Given the description of an element on the screen output the (x, y) to click on. 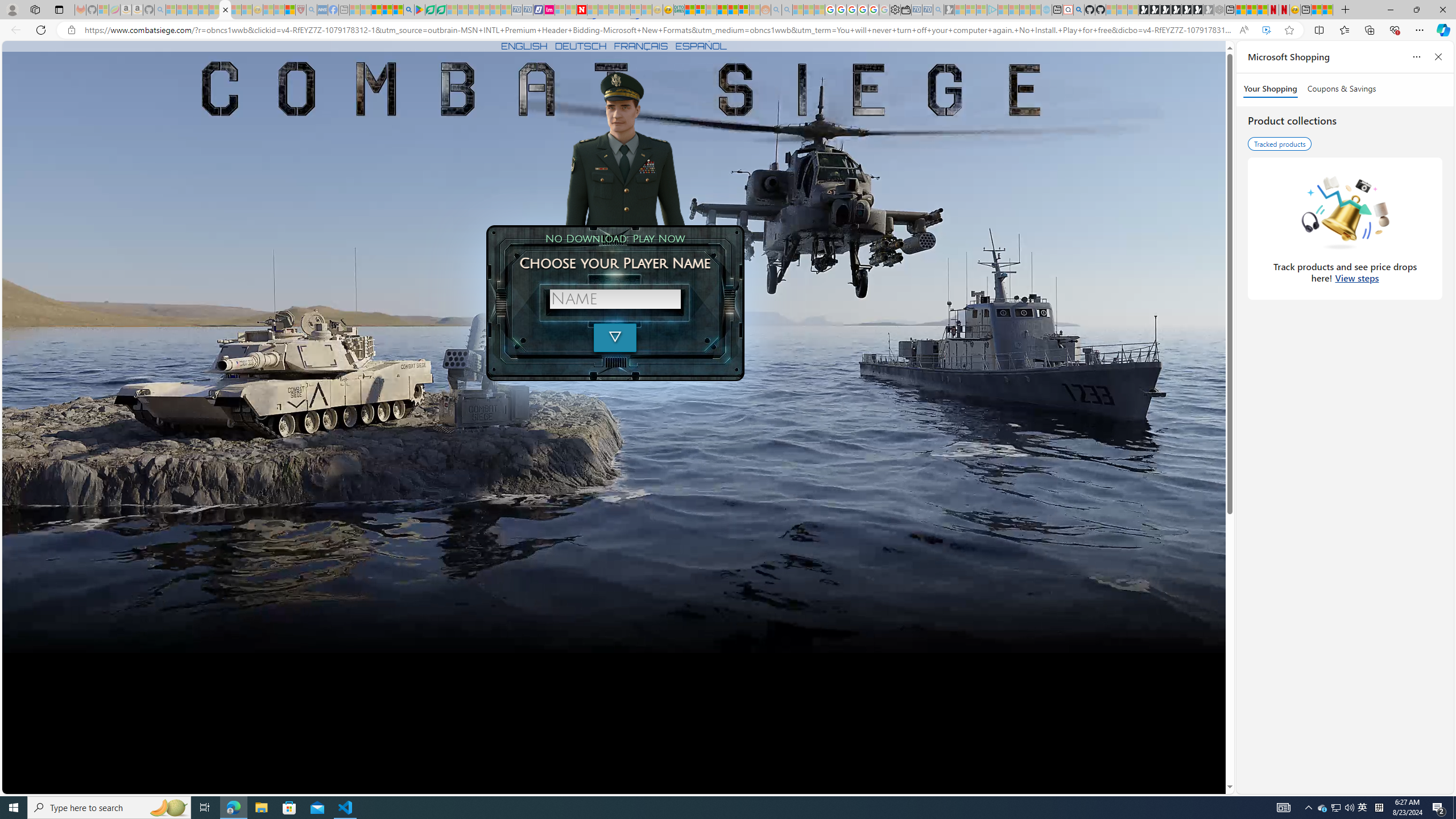
Jobs - lastminute.com Investor Portal (548, 9)
DITOGAMES AG Imprint (678, 9)
MSNBC - MSN - Sleeping (355, 9)
Local - MSN (289, 9)
Play Cave FRVR in your browser | Games from Microsoft Start (1164, 9)
github - Search (1078, 9)
ENGLISH (523, 45)
